Given the description of an element on the screen output the (x, y) to click on. 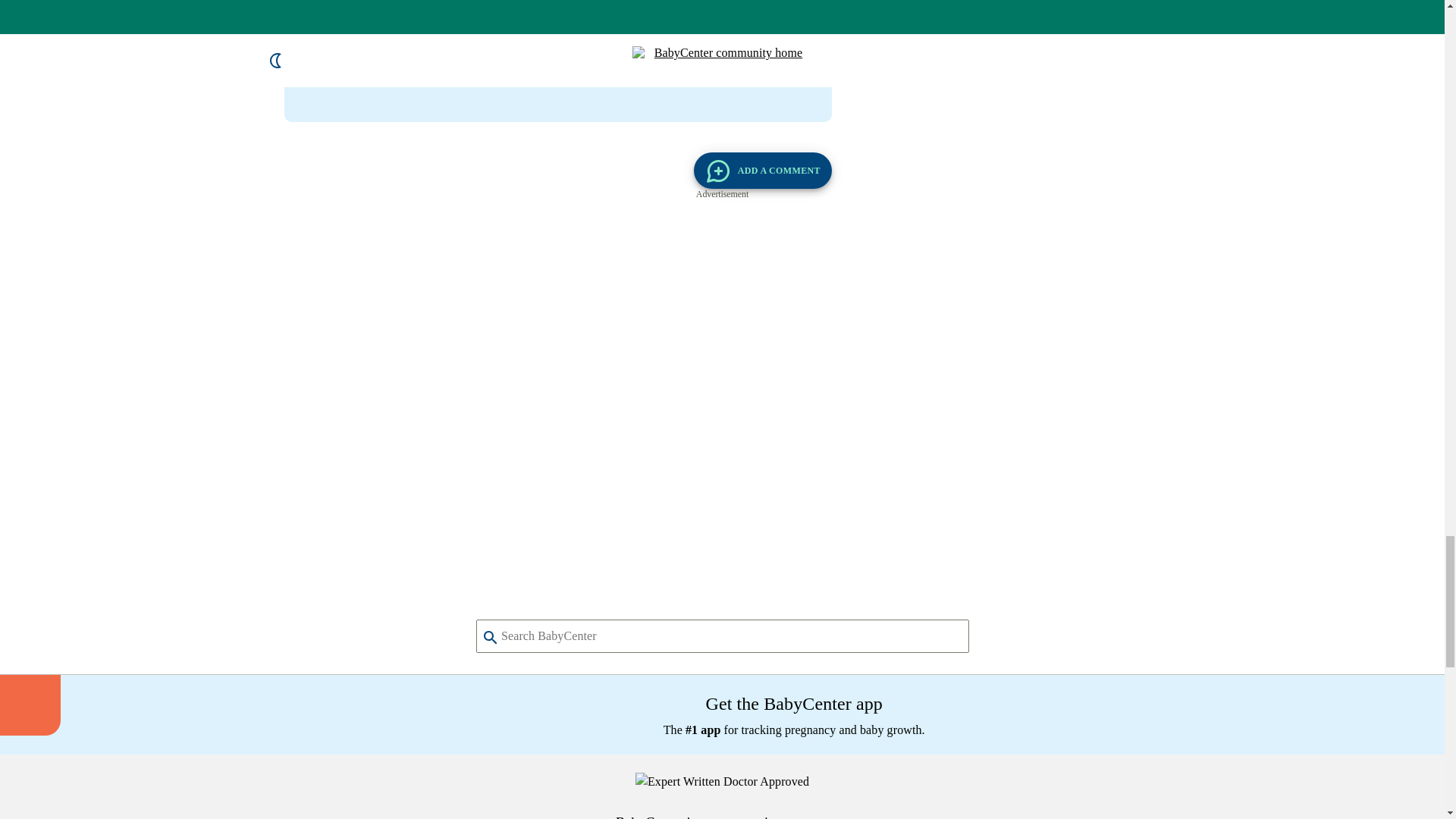
1 (541, 319)
Go to page number (541, 319)
